Given the description of an element on the screen output the (x, y) to click on. 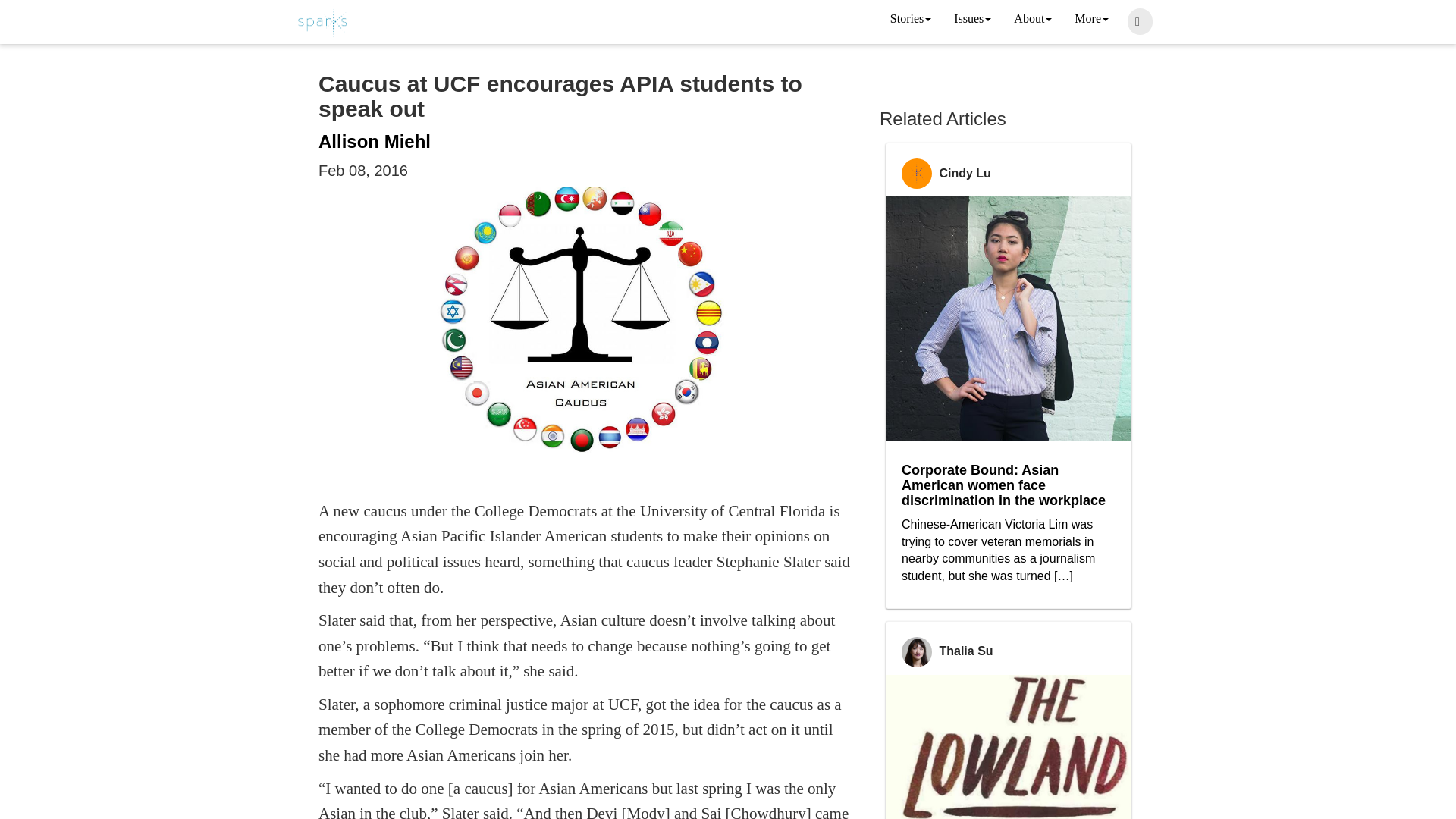
Issues (972, 19)
Cindy Lu (964, 173)
Allison Miehl (374, 141)
Stories (910, 19)
Thalia Su (965, 650)
More (1090, 19)
About (1032, 19)
